Given the description of an element on the screen output the (x, y) to click on. 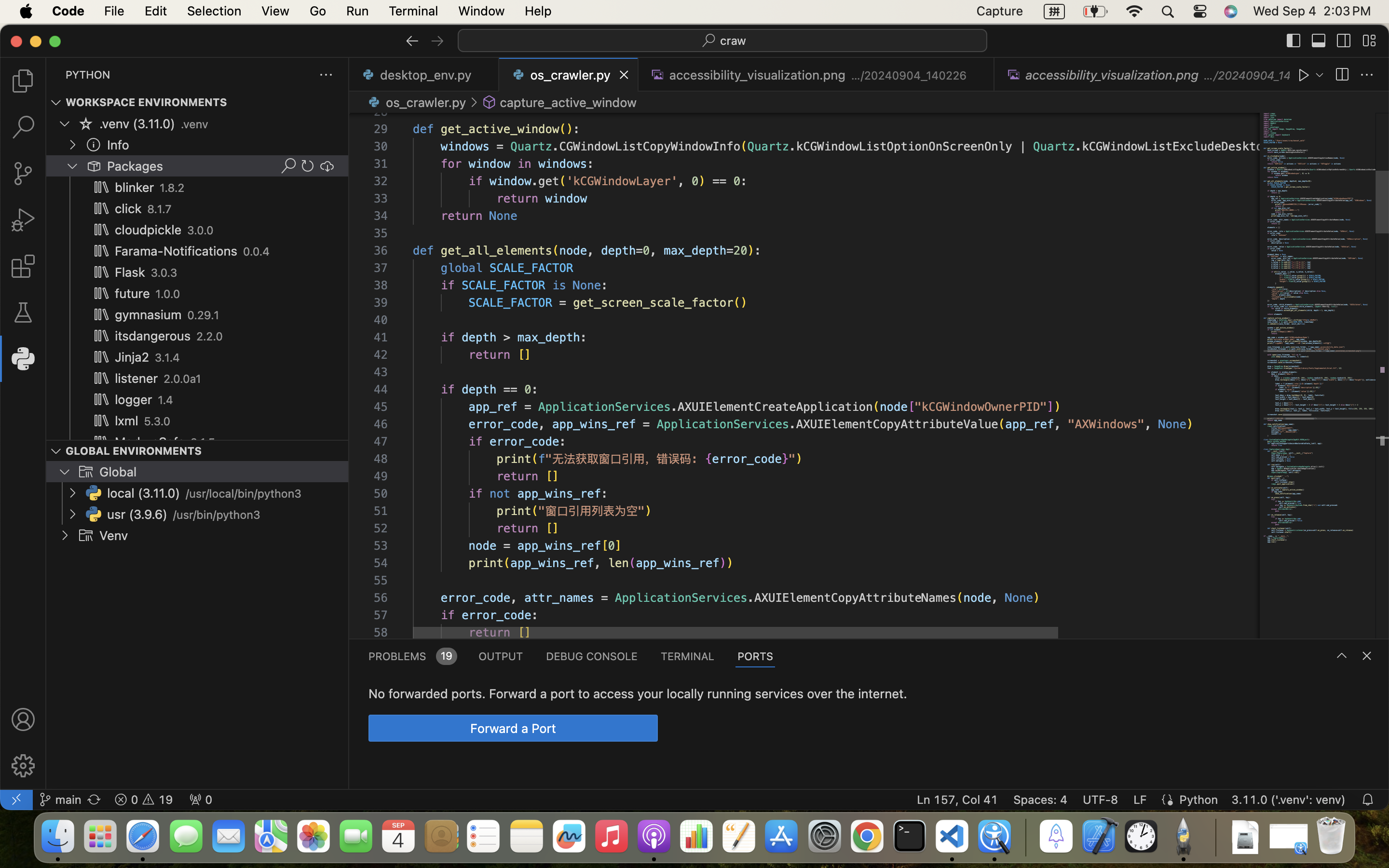
 Element type: AXStaticText (100, 186)
1 os_crawler.py   Element type: AXRadioButton (568, 74)
 Element type: AXStaticText (93, 165)
itsdangerous Element type: AXStaticText (152, 335)
 Element type: AXCheckBox (1318, 40)
